Given the description of an element on the screen output the (x, y) to click on. 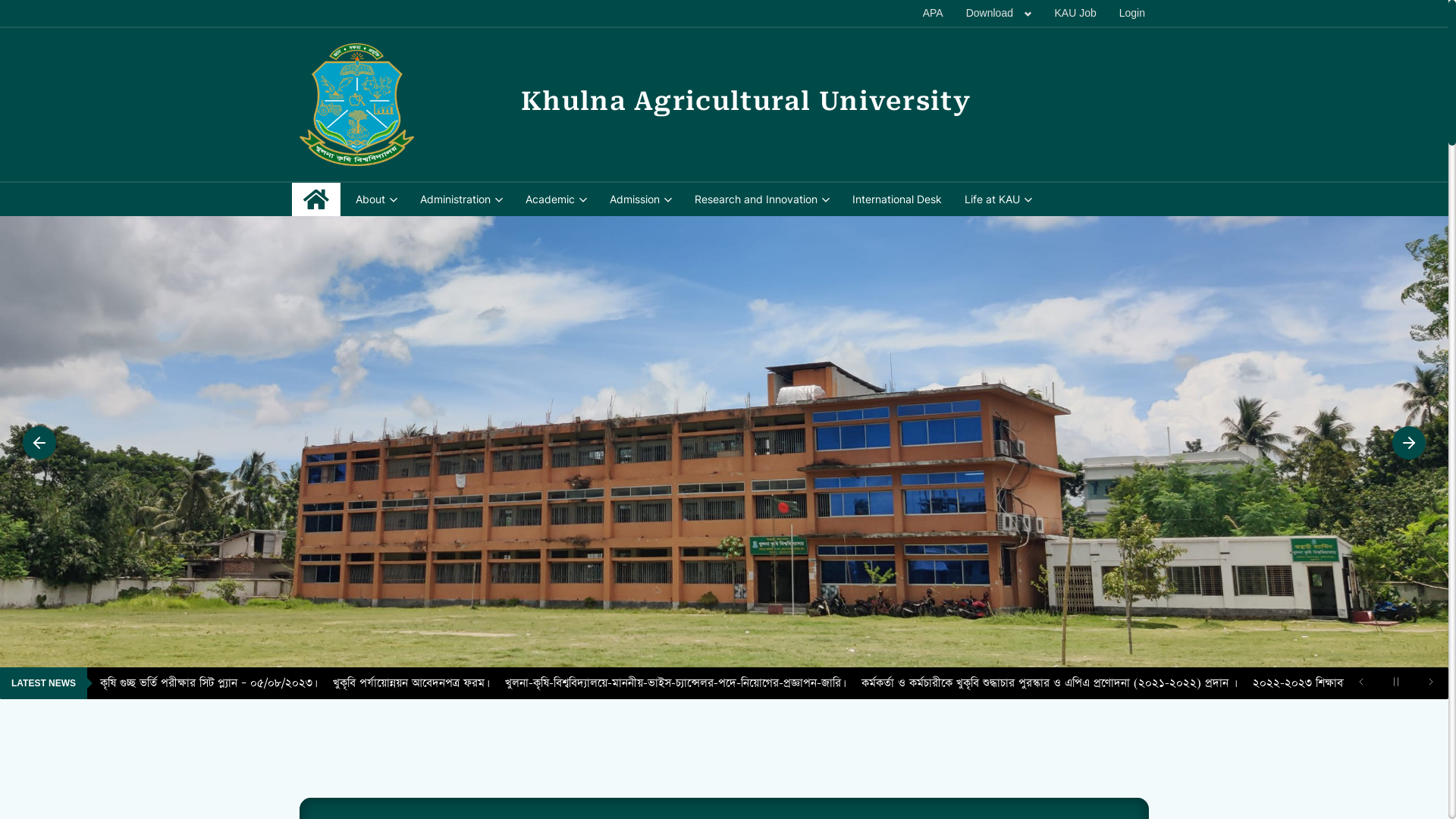
KAU Job Element type: text (1074, 13)
APA Element type: text (932, 13)
Admission Element type: text (640, 199)
International Desk Element type: text (896, 199)
Life at KAU Element type: text (998, 199)
Administration Element type: text (461, 199)
Research and Innovation Element type: text (762, 199)
Login Element type: text (1131, 13)
Download Element type: text (998, 13)
Academic Element type: text (555, 199)
About Element type: text (376, 199)
